Given the description of an element on the screen output the (x, y) to click on. 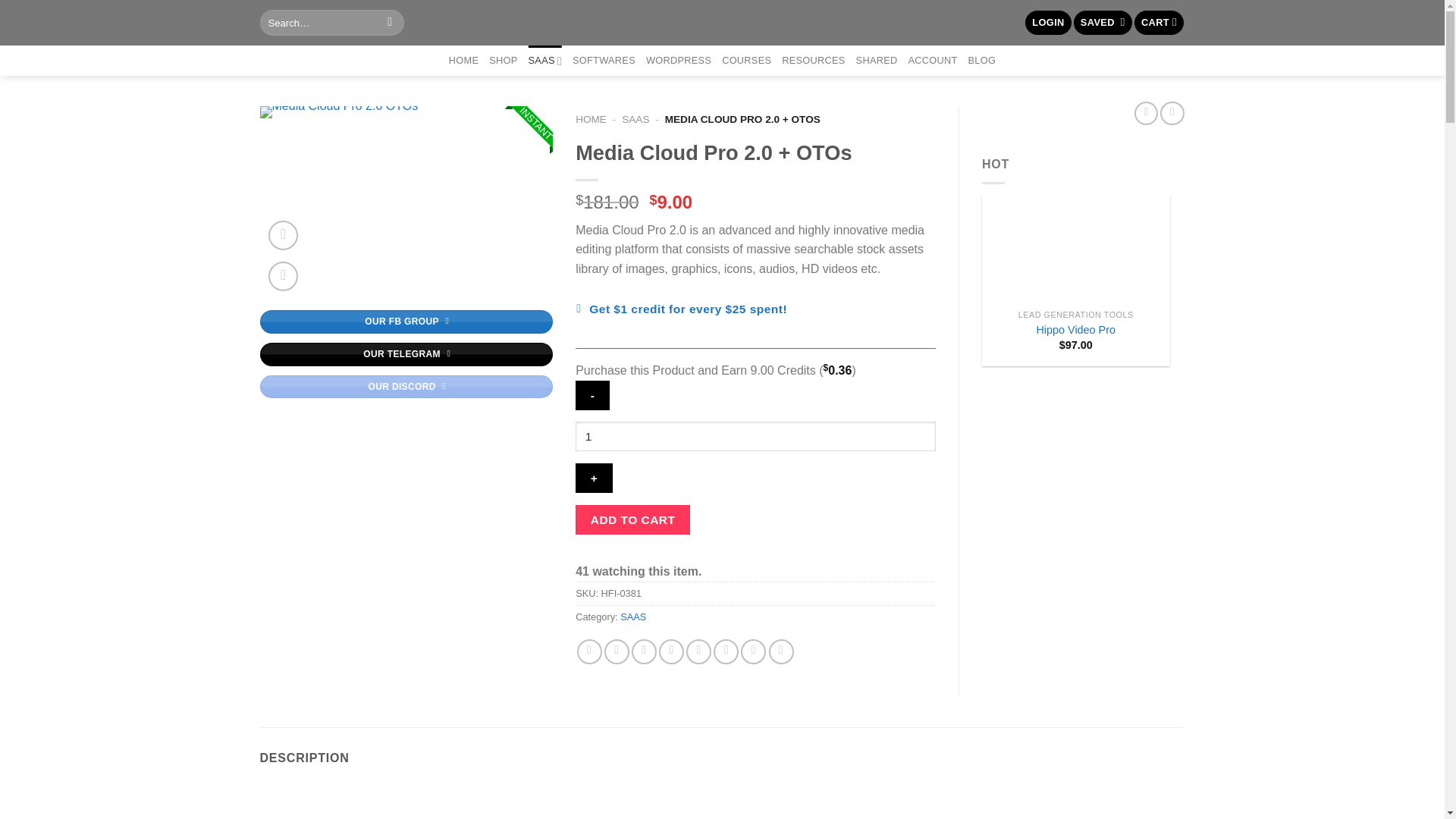
CART (1158, 23)
SAVED (1103, 23)
Zoom (282, 276)
Pin on Pinterest (671, 651)
Video (282, 235)
Wishlist (1103, 23)
WORDPRESS (678, 60)
Search (390, 22)
COURSES (746, 60)
HOME (463, 60)
- (592, 395)
Share on Facebook (589, 651)
SOFTWARES (603, 60)
Cart (1158, 23)
SHOP (502, 60)
